Given the description of an element on the screen output the (x, y) to click on. 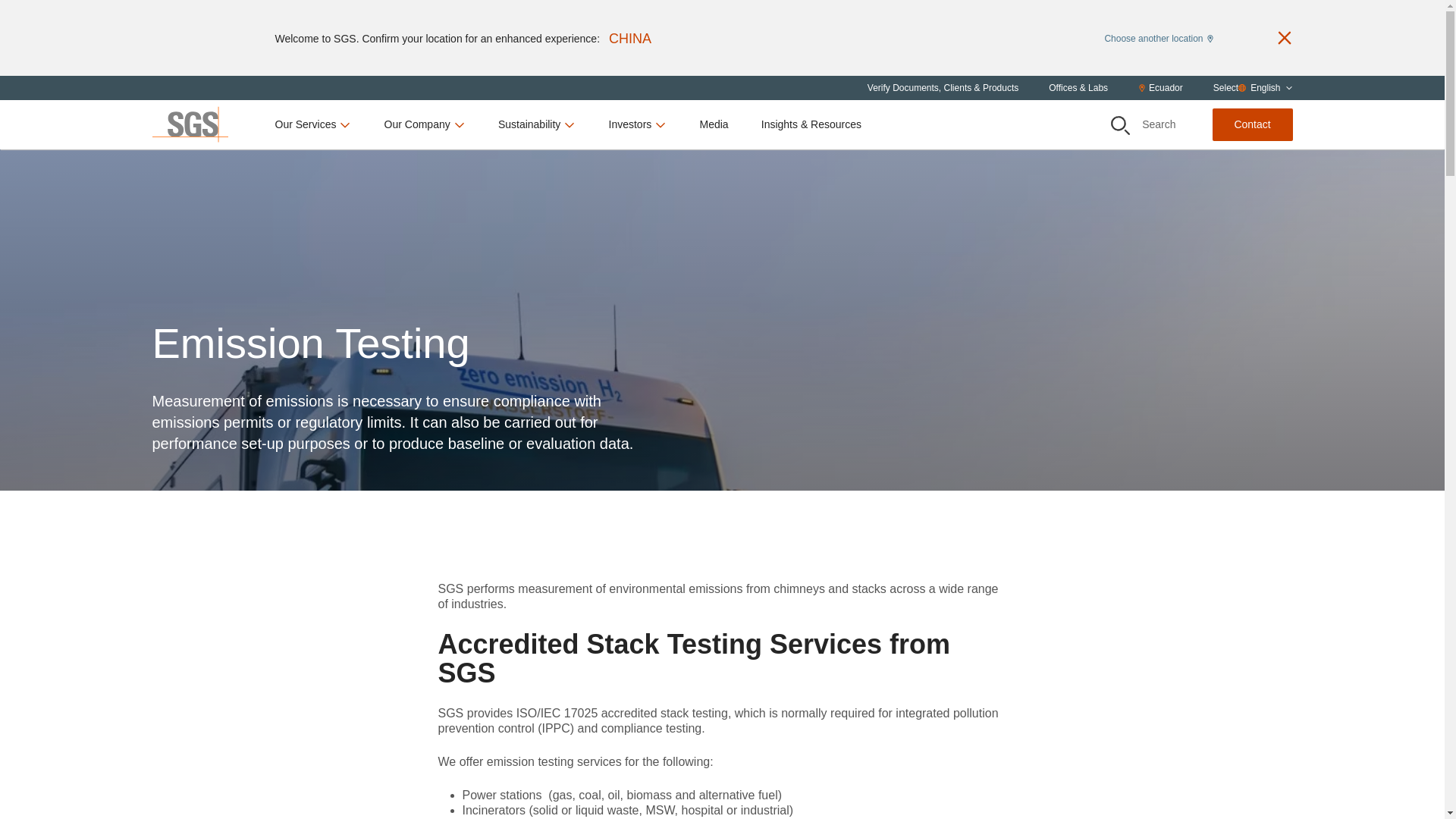
Our Services (313, 124)
Ecuador (1160, 87)
Contact (1251, 124)
Media (713, 124)
CHINA (629, 38)
Choose another location (1157, 37)
Our Company (424, 124)
Search (1143, 124)
Sustainability (536, 124)
Search (1119, 125)
Investors (637, 124)
SGS (189, 124)
